Given the description of an element on the screen output the (x, y) to click on. 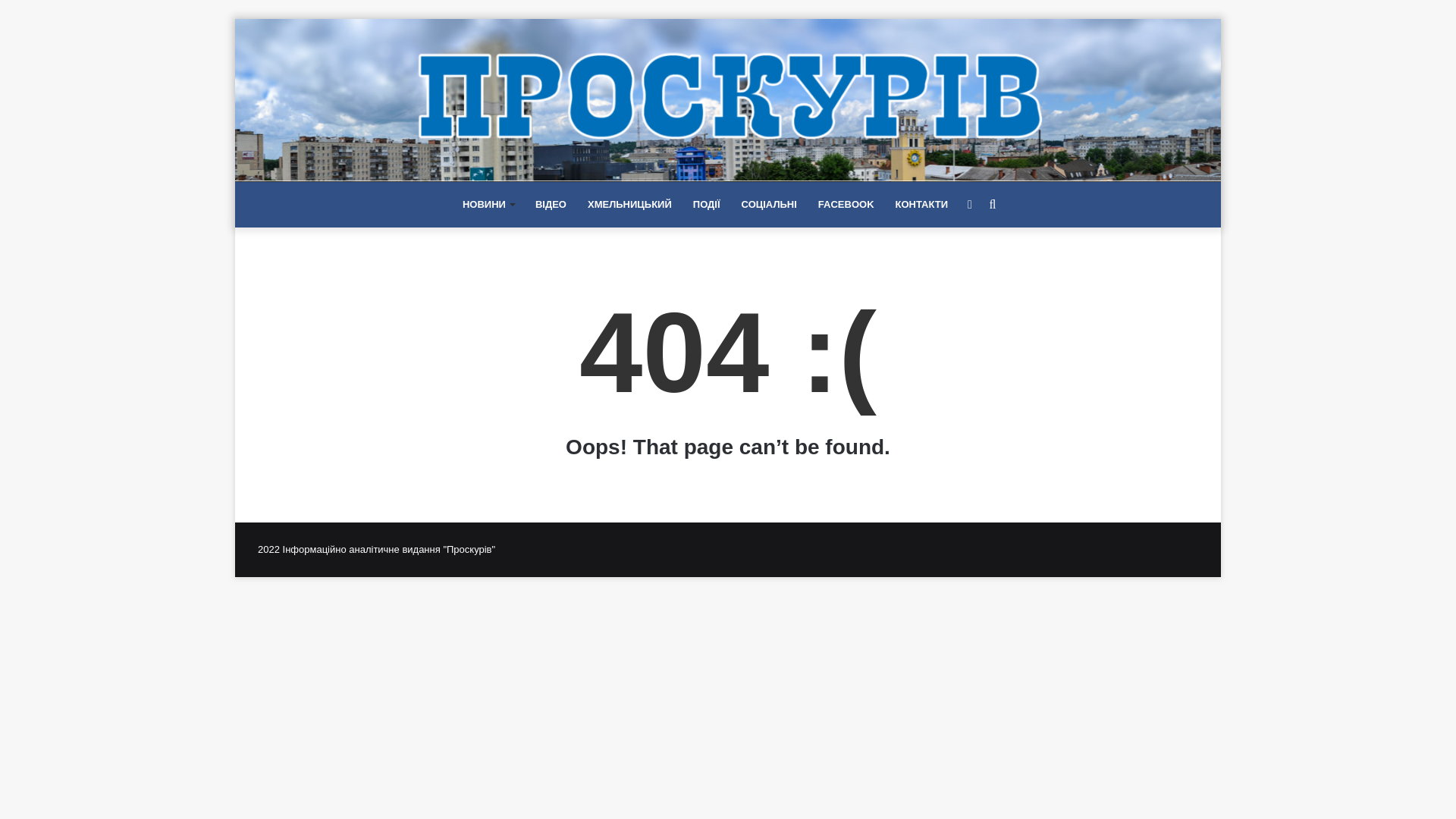
FACEBOOK (846, 204)
